Given the description of an element on the screen output the (x, y) to click on. 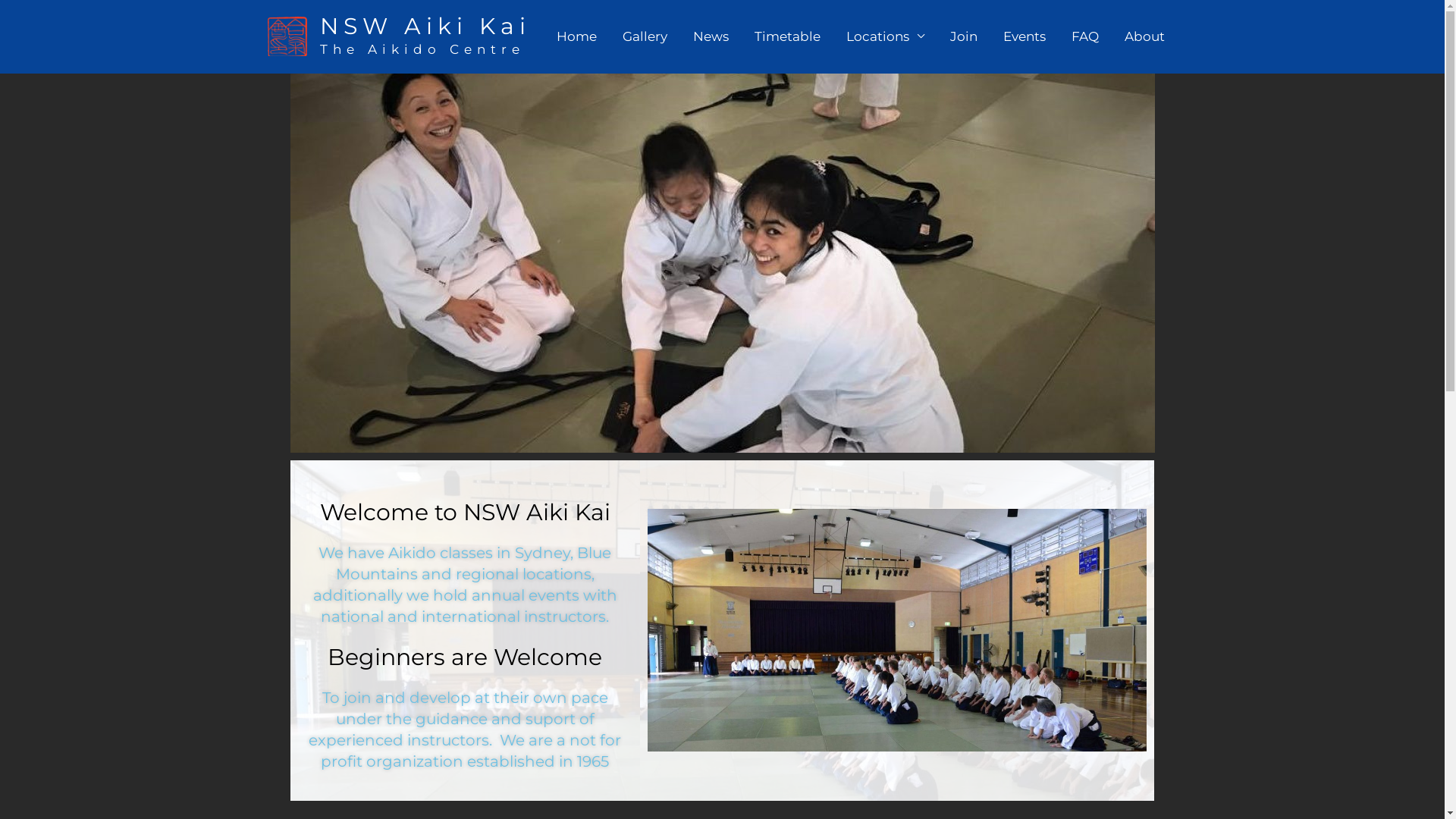
Home Element type: text (575, 36)
Locations Element type: text (884, 36)
About Element type: text (1144, 36)
Join Element type: text (963, 36)
Gallery Element type: text (644, 36)
Events Element type: text (1024, 36)
FAQ Element type: text (1084, 36)
Timetable Element type: text (787, 36)
NSW Aiki Kai Element type: text (425, 26)
News Element type: text (709, 36)
